Given the description of an element on the screen output the (x, y) to click on. 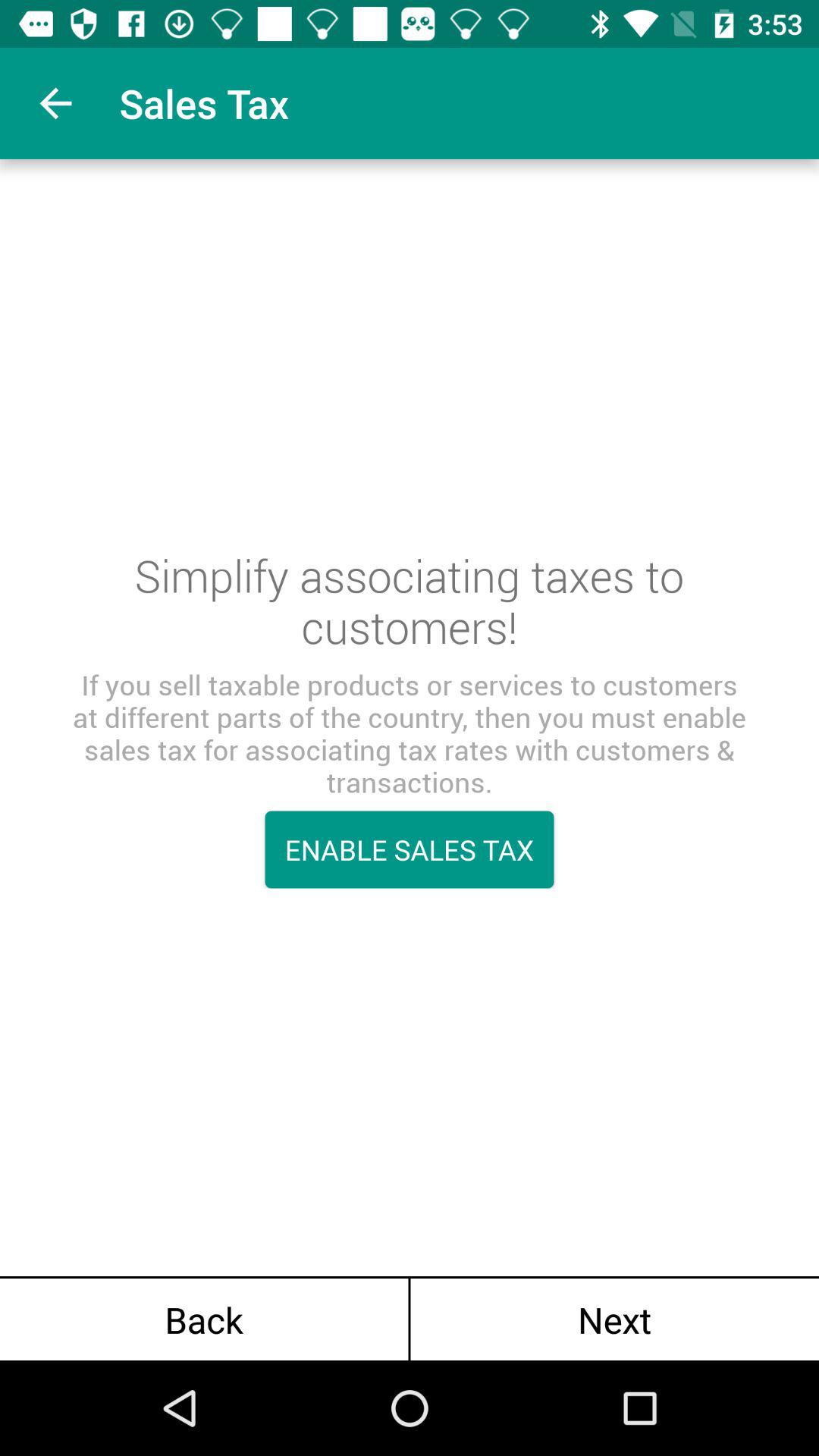
scroll to back (204, 1319)
